Given the description of an element on the screen output the (x, y) to click on. 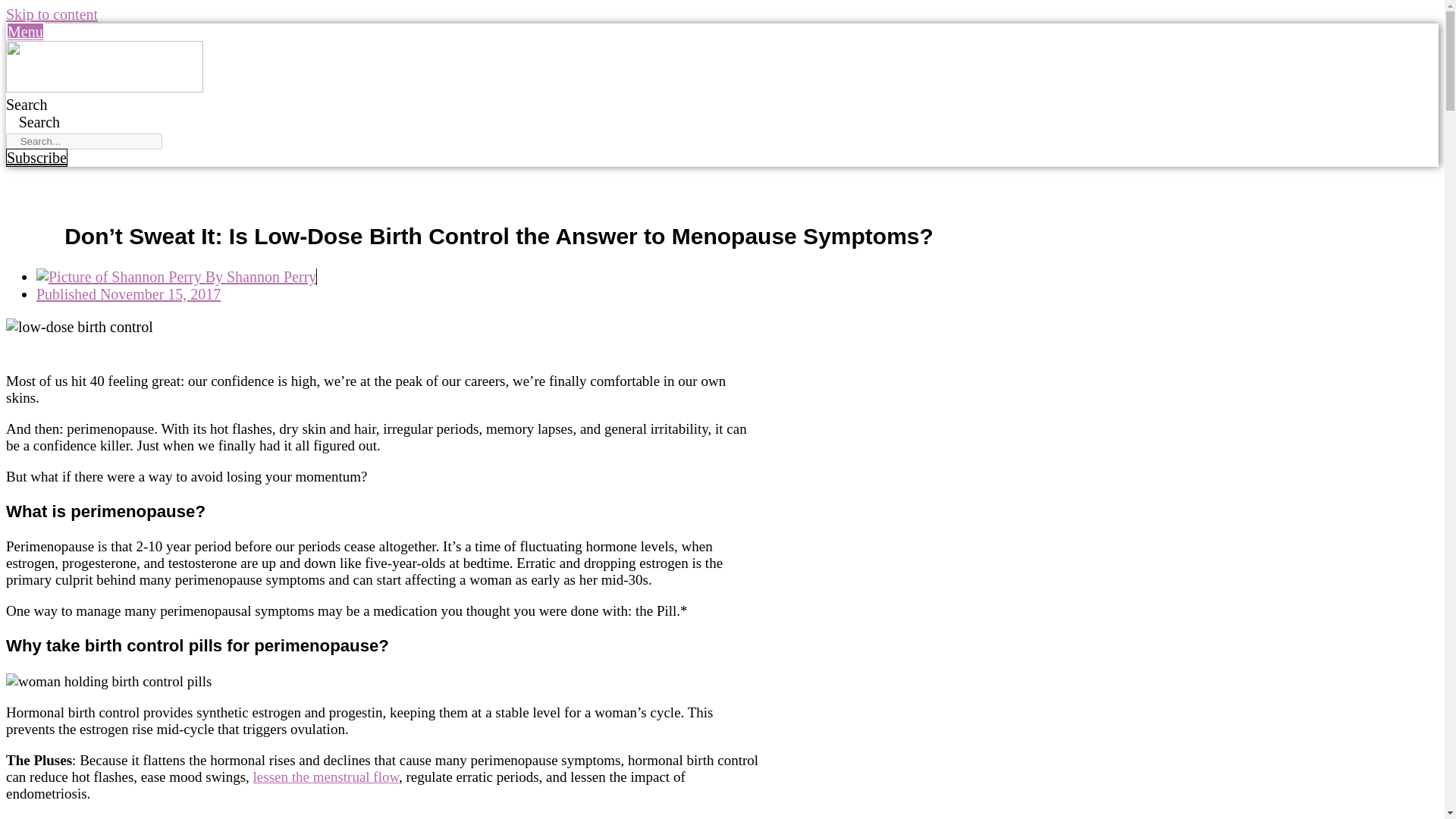
Skip to content (51, 13)
Menu (25, 31)
Published November 15, 2017 (128, 293)
lessen the menstrual flow (325, 776)
Subscribe (35, 157)
By Shannon Perry (175, 276)
